Given the description of an element on the screen output the (x, y) to click on. 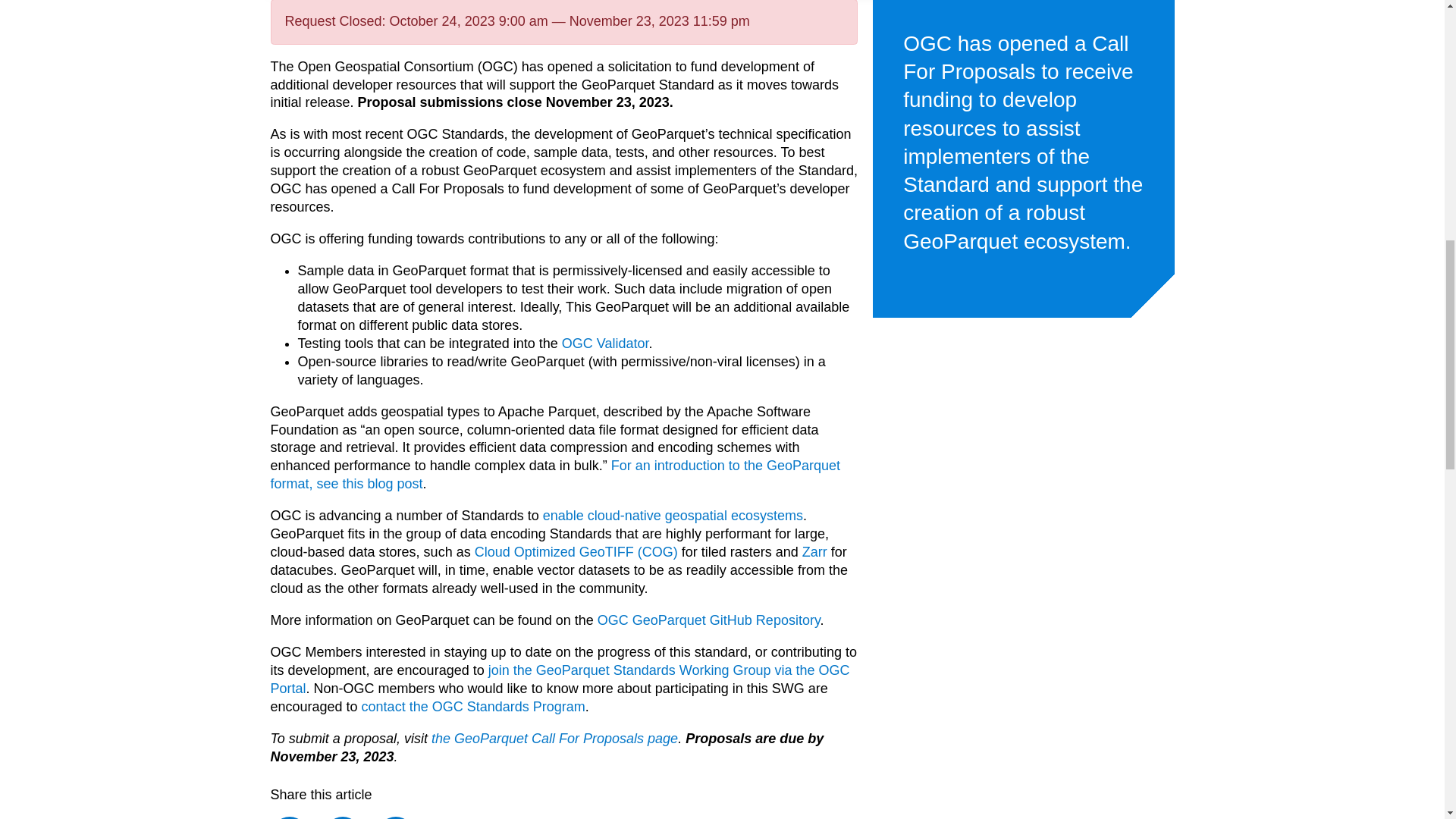
Twitter (342, 817)
LinkedIn (395, 817)
Facebook (288, 817)
